Given the description of an element on the screen output the (x, y) to click on. 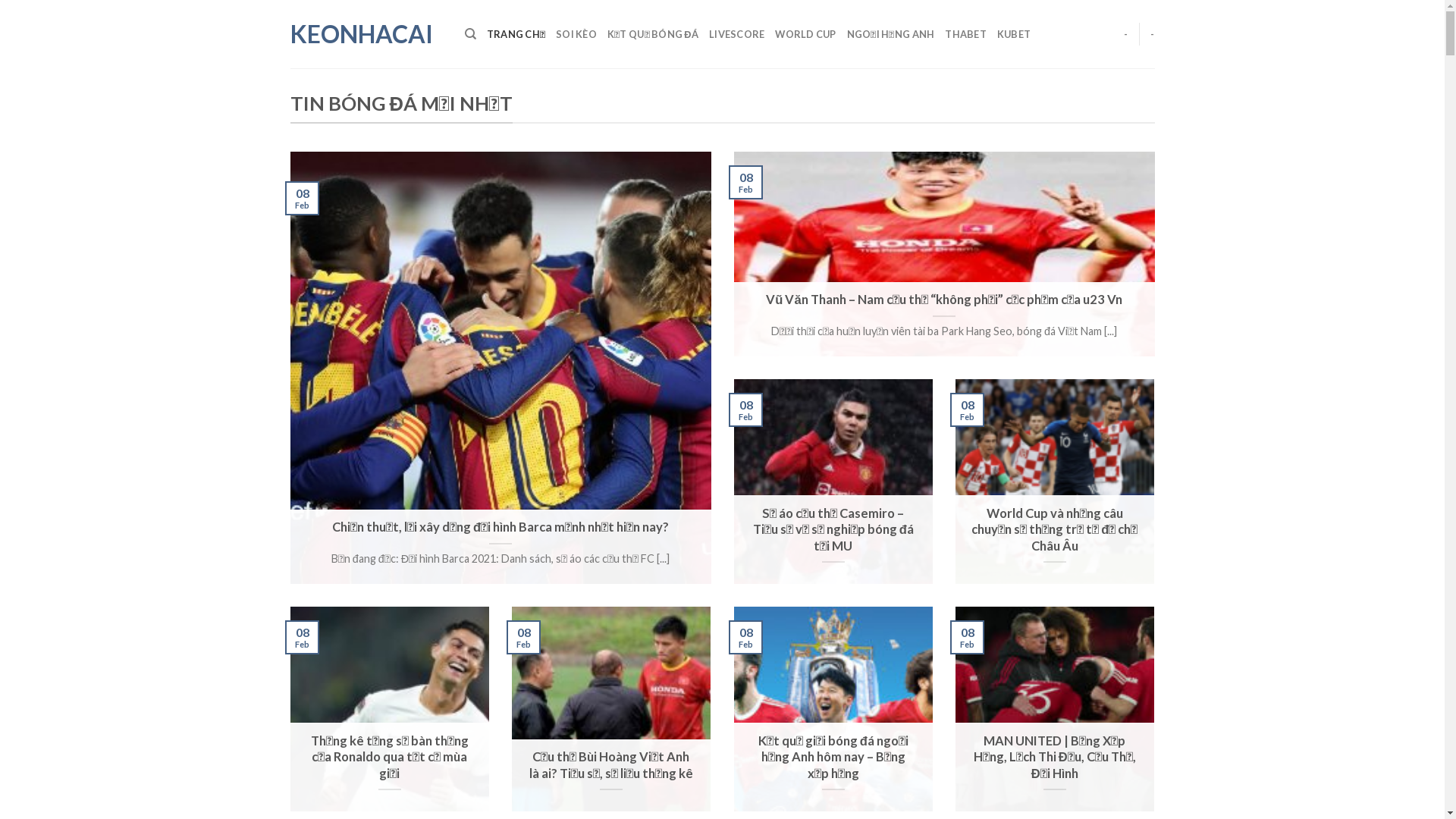
WORLD CUP Element type: text (805, 33)
KUBET Element type: text (1013, 33)
- Element type: text (1152, 33)
LIVESCORE Element type: text (736, 33)
- Element type: text (1125, 33)
KEONHACAI Element type: text (365, 33)
THABET Element type: text (965, 33)
